Given the description of an element on the screen output the (x, y) to click on. 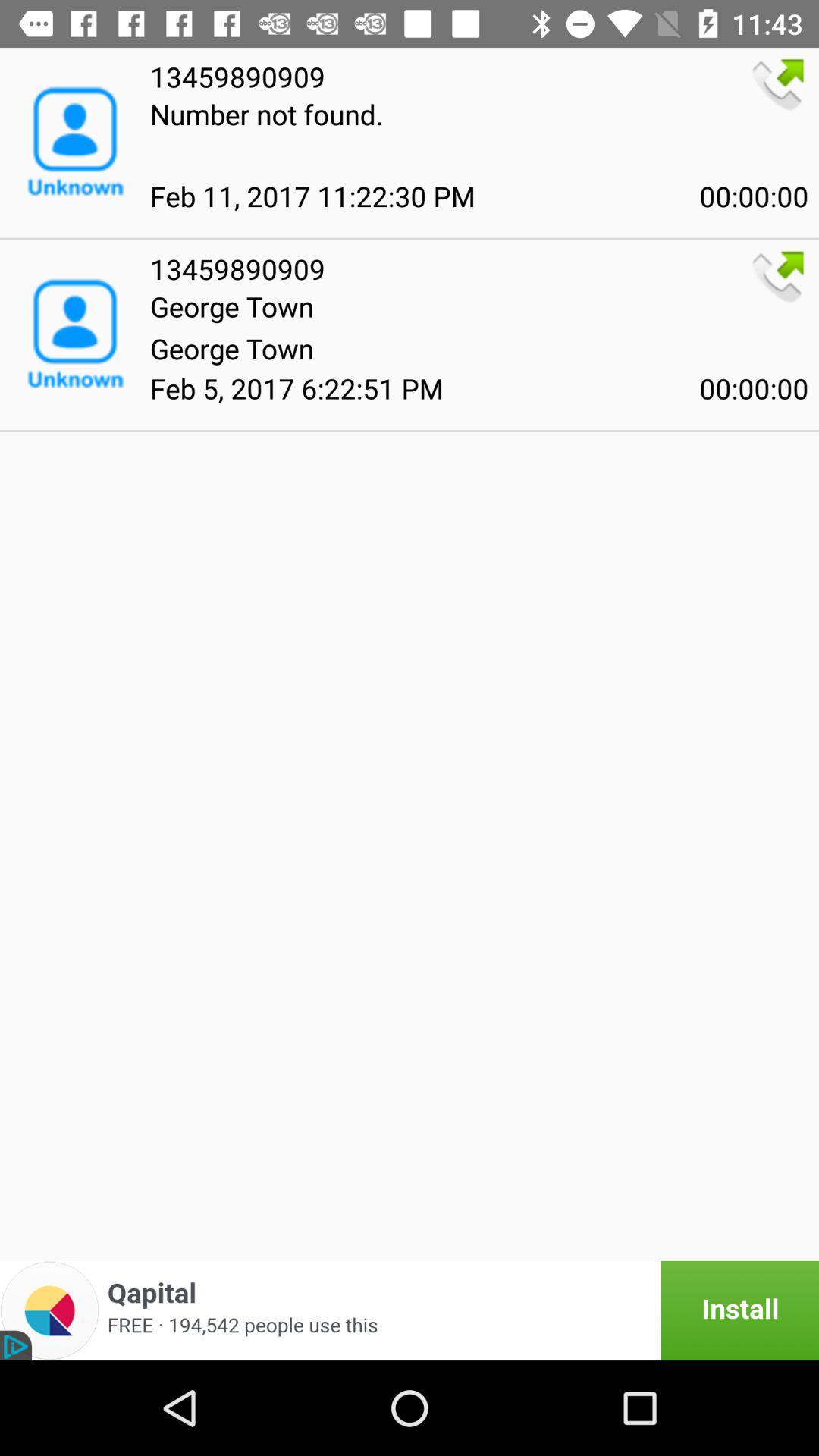
install the advertisement (409, 1310)
